Given the description of an element on the screen output the (x, y) to click on. 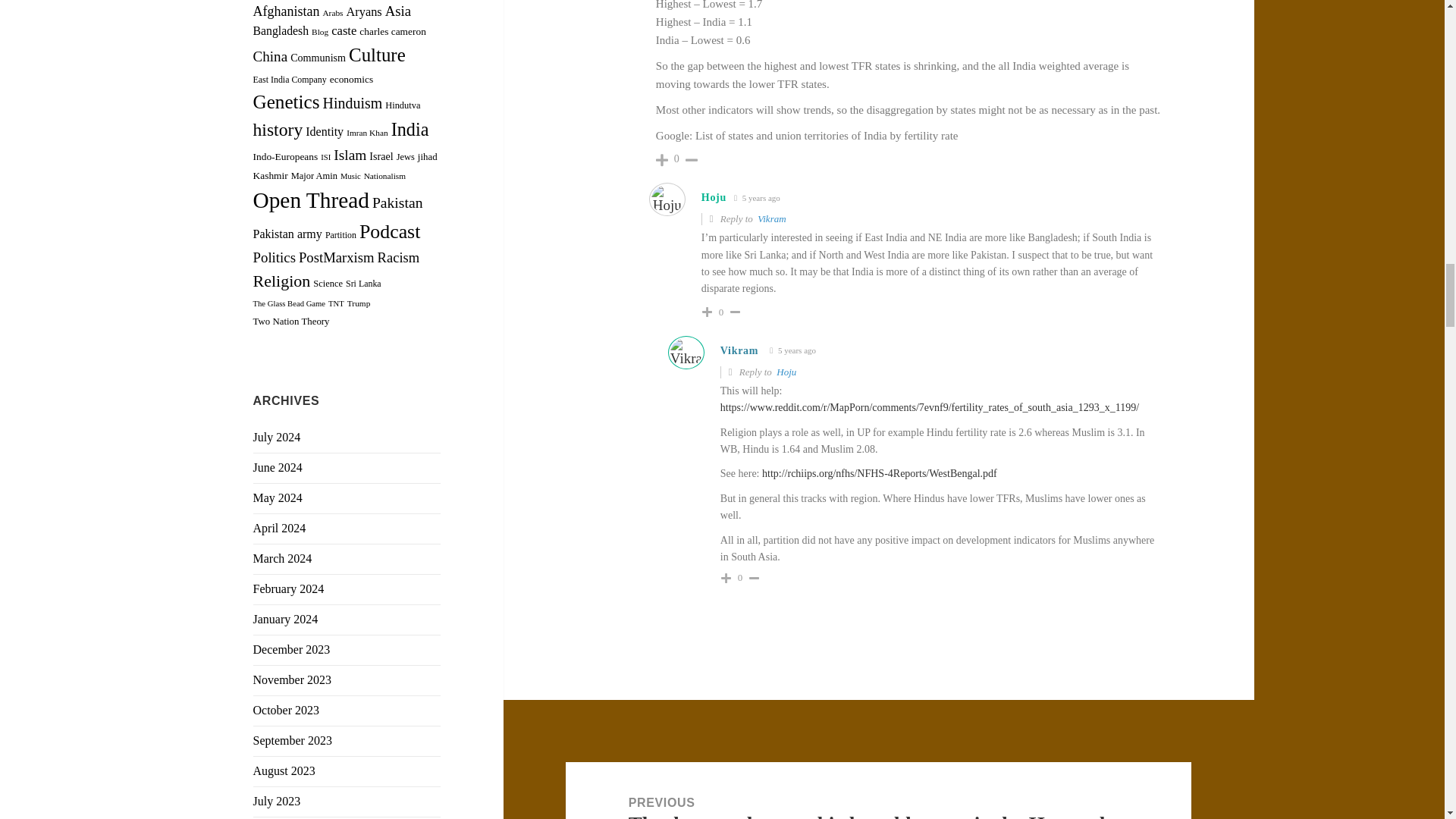
0 (676, 159)
